Given the description of an element on the screen output the (x, y) to click on. 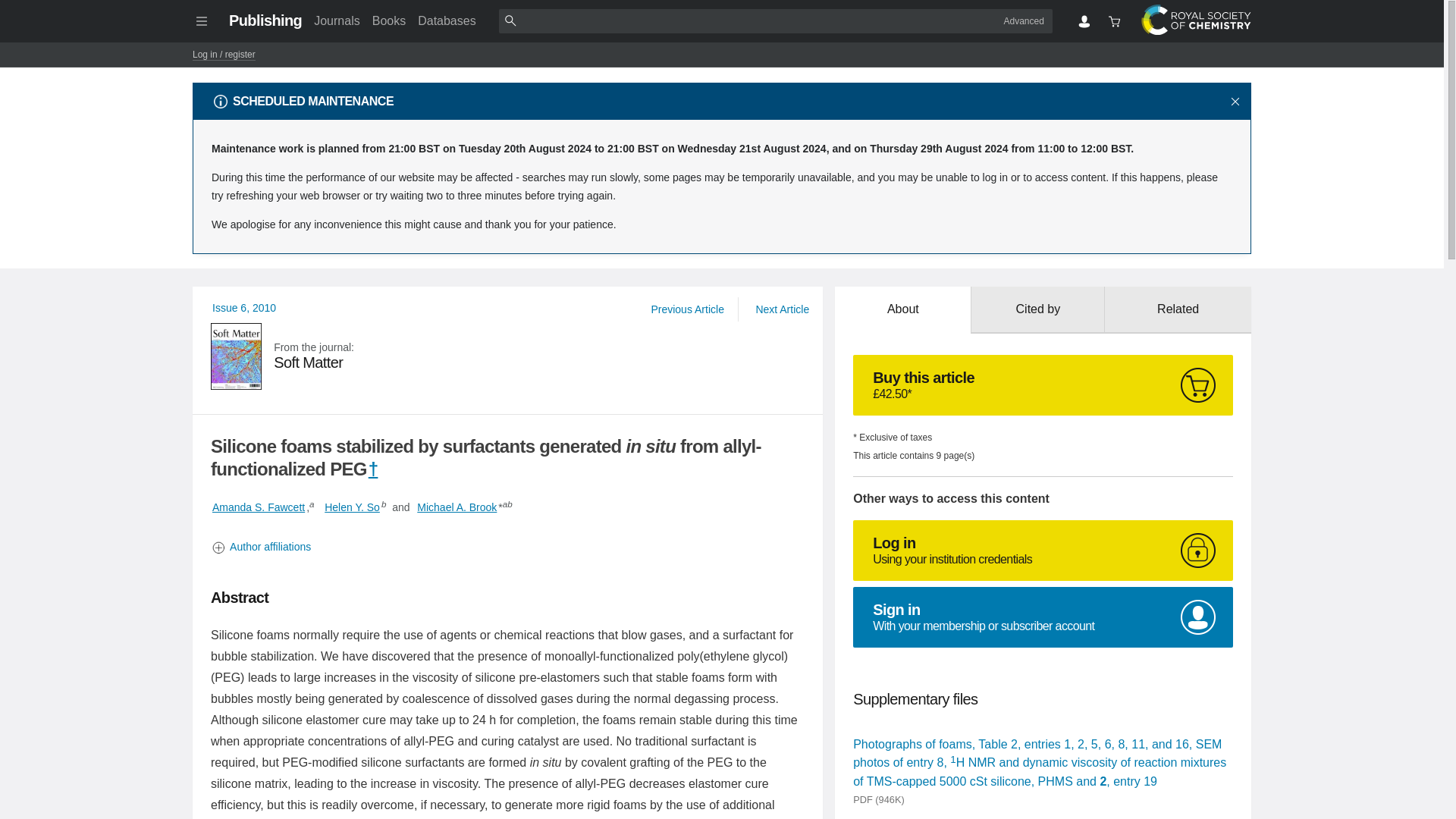
Previous Article (687, 309)
Publishing (264, 20)
Publishing home page (264, 20)
Related (1177, 309)
Author affiliations (508, 546)
Amanda S. Fawcett (508, 355)
Advanced (258, 507)
Databases (1043, 550)
